Given the description of an element on the screen output the (x, y) to click on. 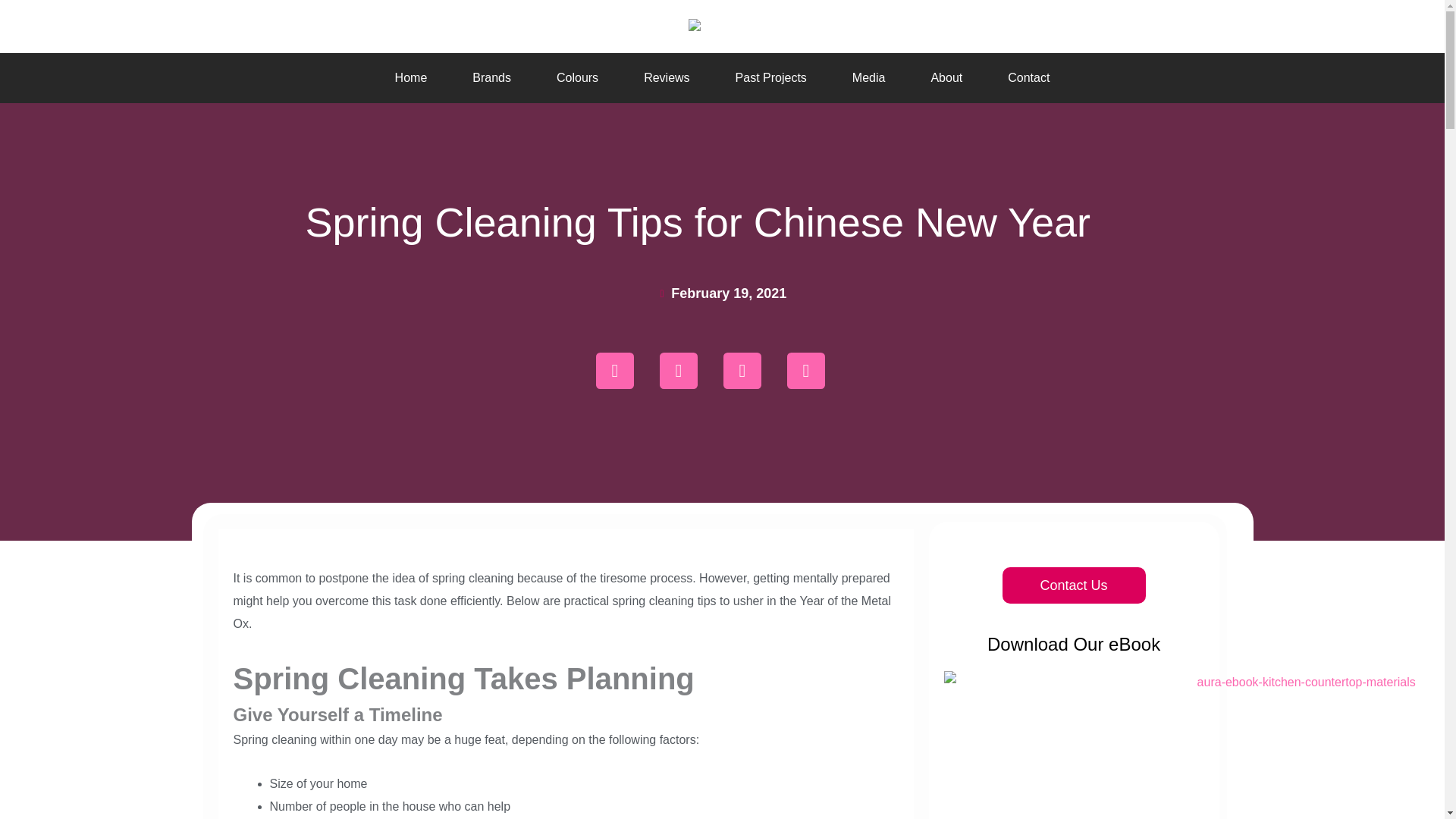
Brands (491, 77)
About (945, 77)
Colours (576, 77)
Share on facebook (678, 370)
Share on linkedin (805, 370)
Share on twitter (742, 370)
Share on whatsapp (615, 370)
Past Projects (771, 77)
Reviews (666, 77)
Media (869, 77)
